Given the description of an element on the screen output the (x, y) to click on. 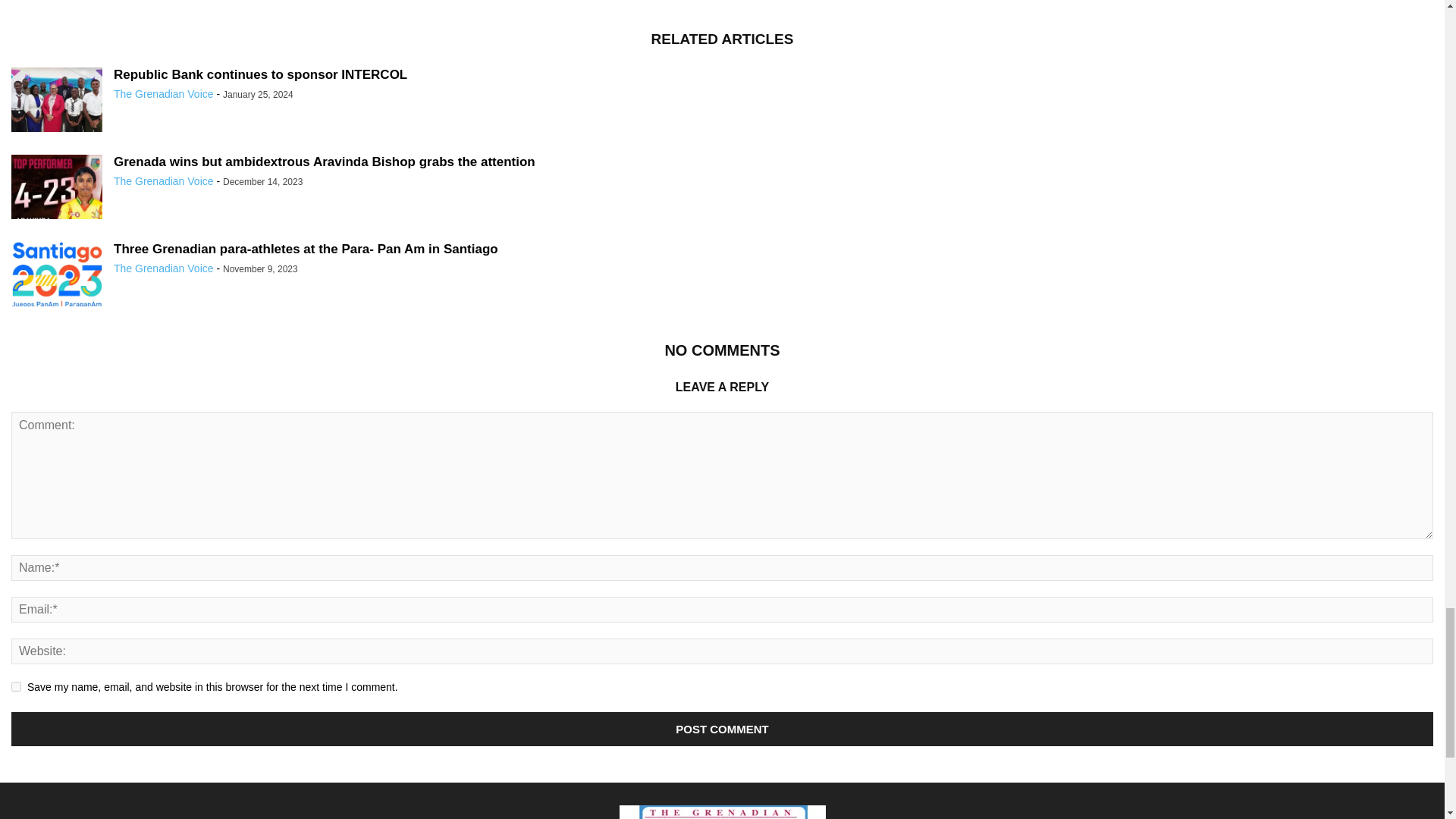
yes (16, 686)
Republic Bank continues to sponsor INTERCOL (56, 101)
The Grenadian Voice (163, 93)
Republic Bank continues to sponsor INTERCOL (260, 74)
Post Comment (721, 728)
Republic Bank continues to sponsor INTERCOL (260, 74)
Post Comment (721, 728)
The Grenadian Voice (163, 181)
The Grenadian Voice (163, 268)
